Given the description of an element on the screen output the (x, y) to click on. 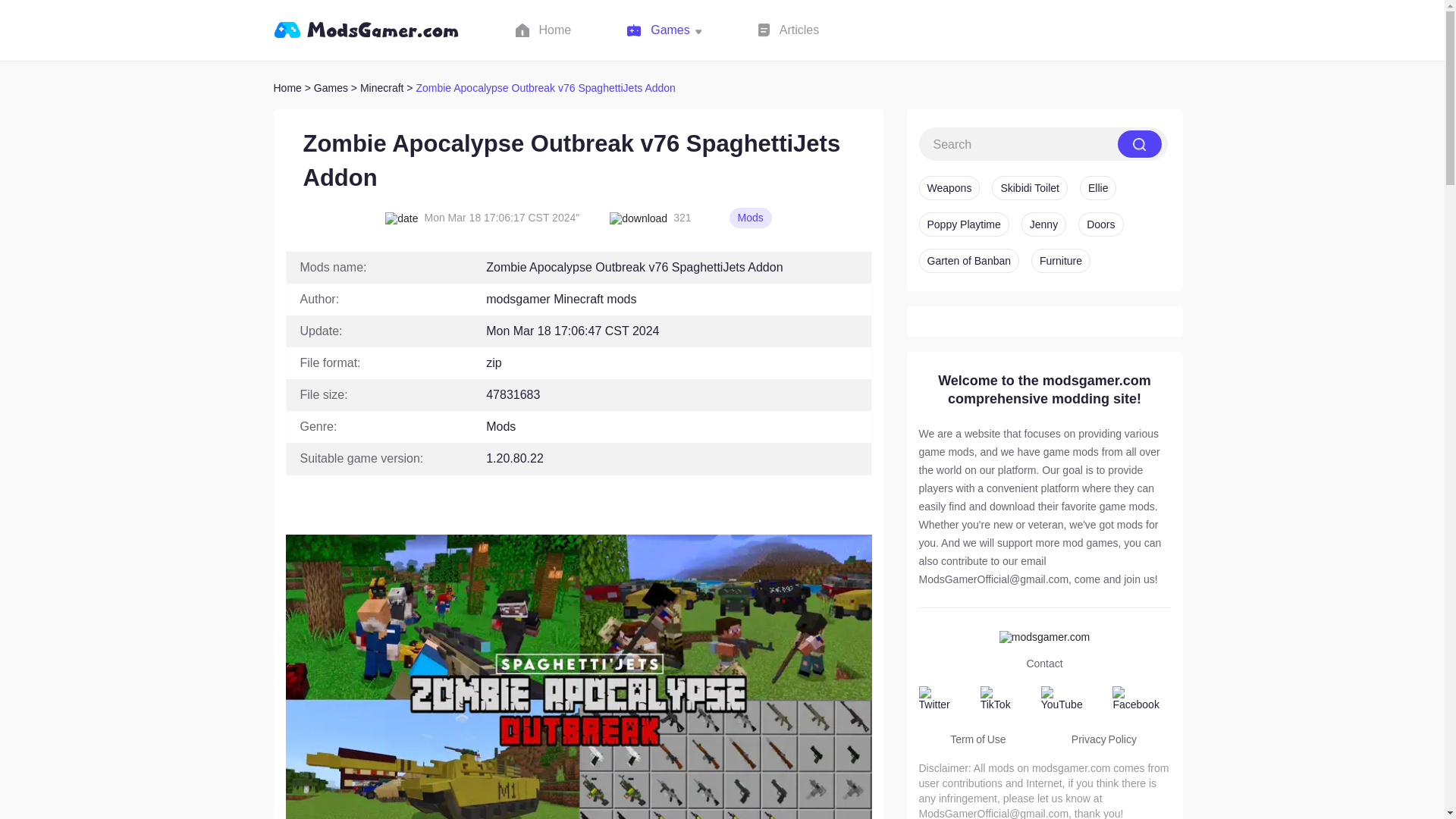
Home (287, 87)
Articles (788, 30)
Mods (750, 218)
Games (664, 30)
Home (543, 30)
